Given the description of an element on the screen output the (x, y) to click on. 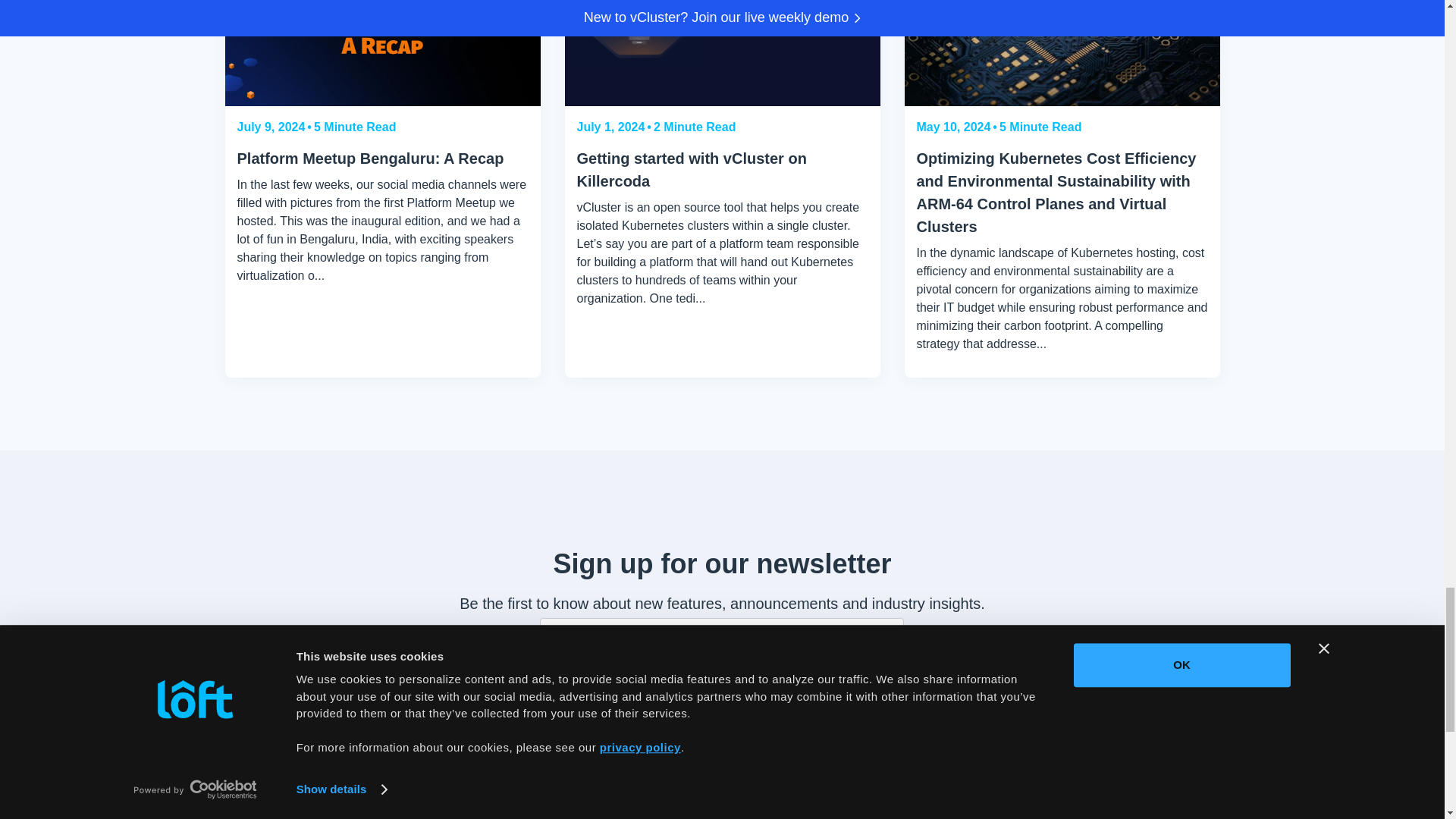
Subscribe (722, 694)
